Given the description of an element on the screen output the (x, y) to click on. 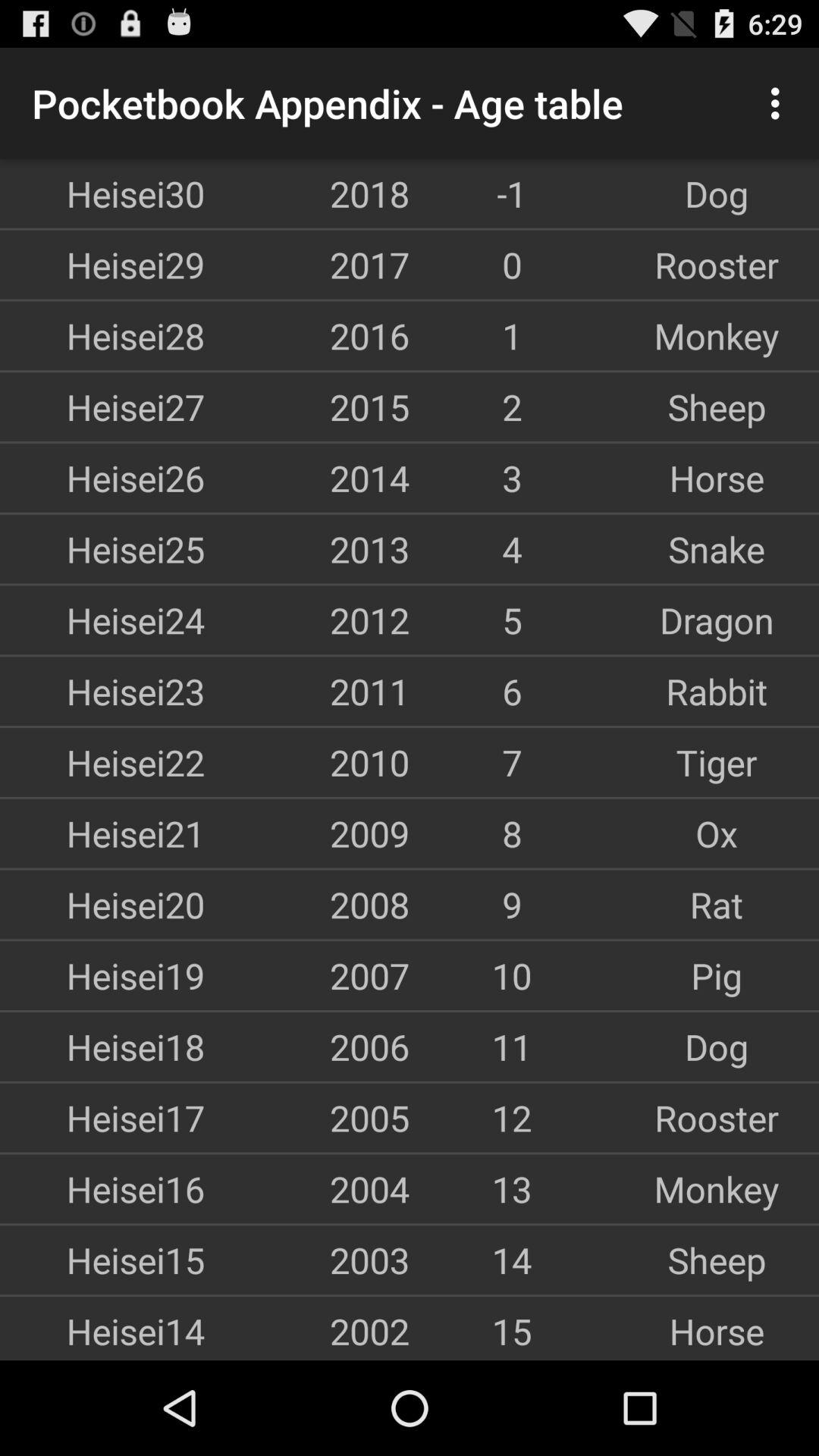
flip until the heisei26 icon (102, 477)
